Given the description of an element on the screen output the (x, y) to click on. 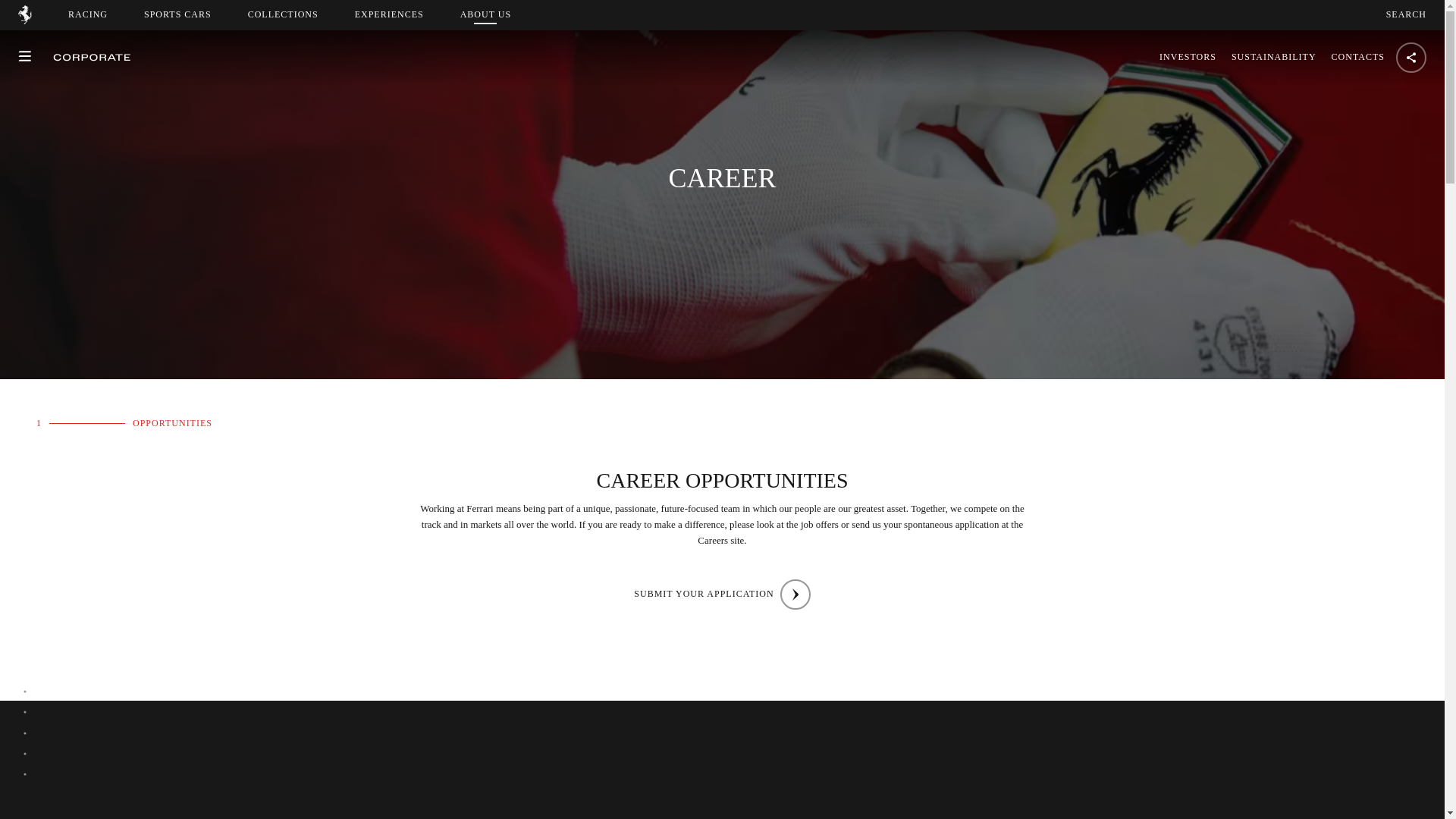
SUSTAINABILITY (1273, 57)
CONTACTS (1353, 57)
RACING (87, 14)
ABOUT US (485, 14)
EXPERIENCES (499, 14)
INVESTORS (389, 14)
SUBMIT YOUR APPLICATION (1187, 57)
Ferrari logo (721, 594)
COLLECTIONS (24, 19)
SEARCH (282, 14)
SPORTS CARS (1406, 14)
